Given the description of an element on the screen output the (x, y) to click on. 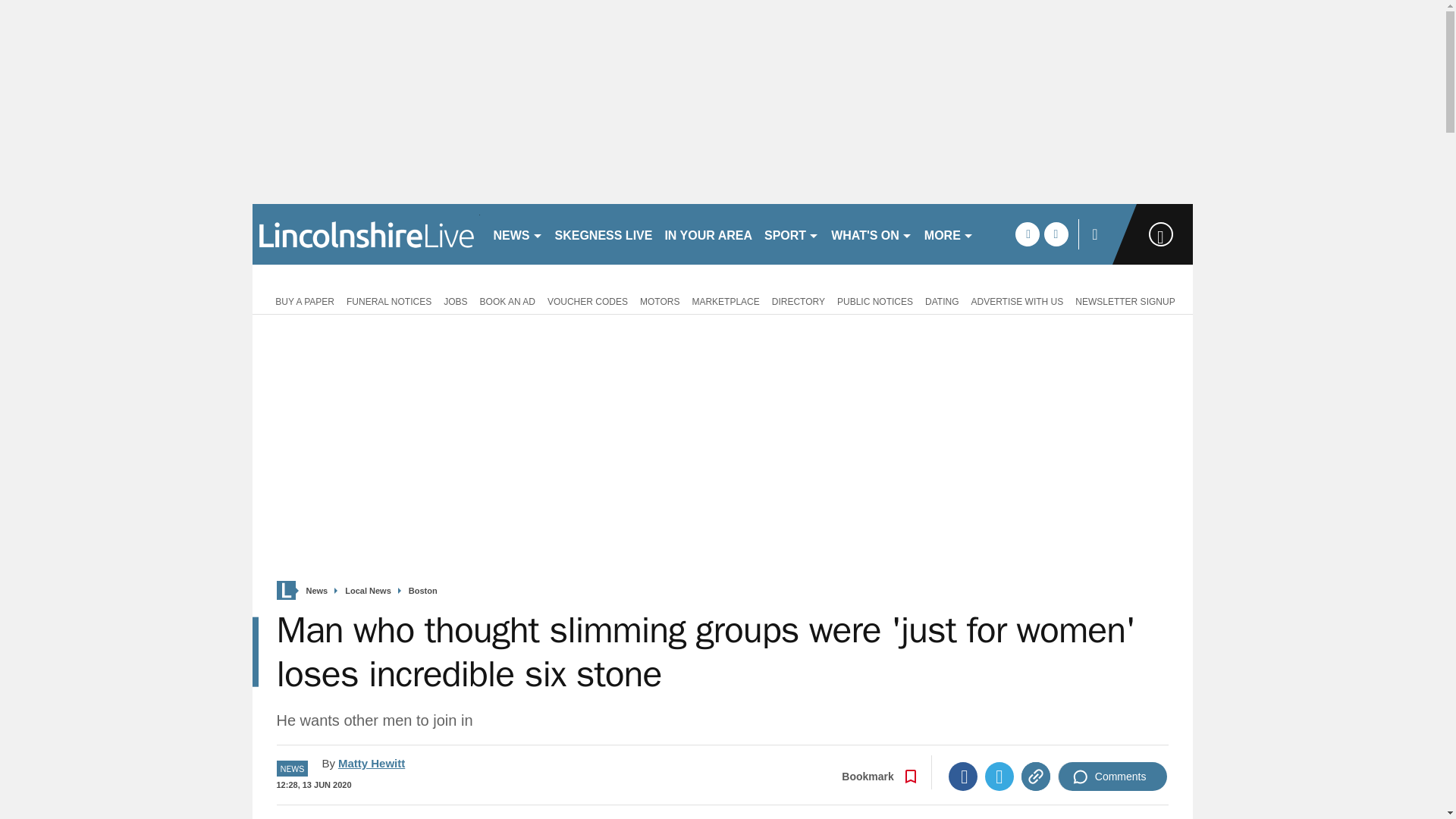
IN YOUR AREA (708, 233)
Facebook (962, 776)
Comments (1112, 776)
twitter (1055, 233)
BUY A PAPER (301, 300)
NEWS (517, 233)
SKEGNESS LIVE (603, 233)
Twitter (999, 776)
lincolnshirelive (365, 233)
WHAT'S ON (871, 233)
